Given the description of an element on the screen output the (x, y) to click on. 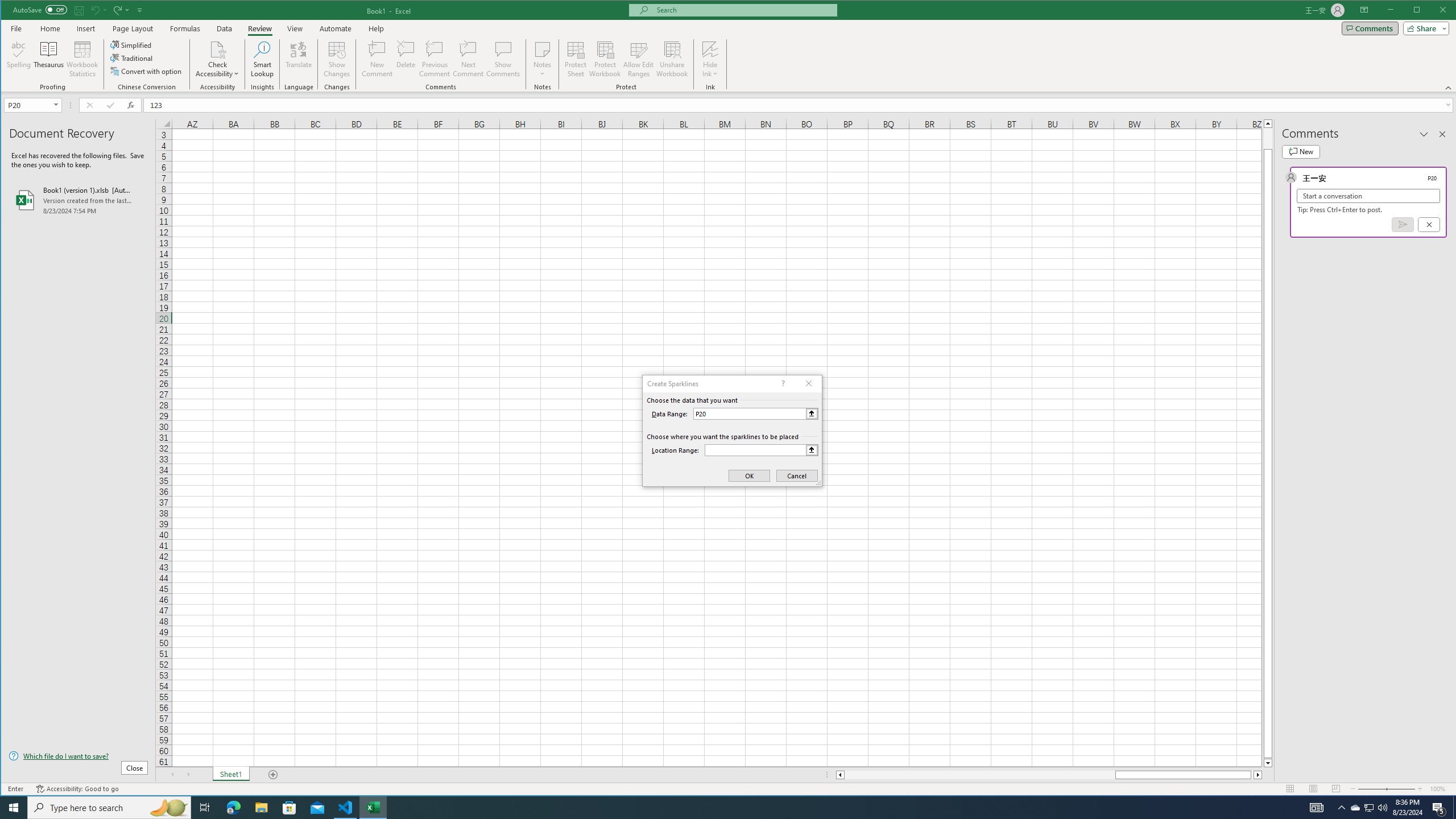
Cancel (1428, 224)
Spelling... (18, 59)
Check Accessibility (217, 48)
Simplified (132, 44)
Allow Edit Ranges (638, 59)
Smart Lookup (261, 59)
